Given the description of an element on the screen output the (x, y) to click on. 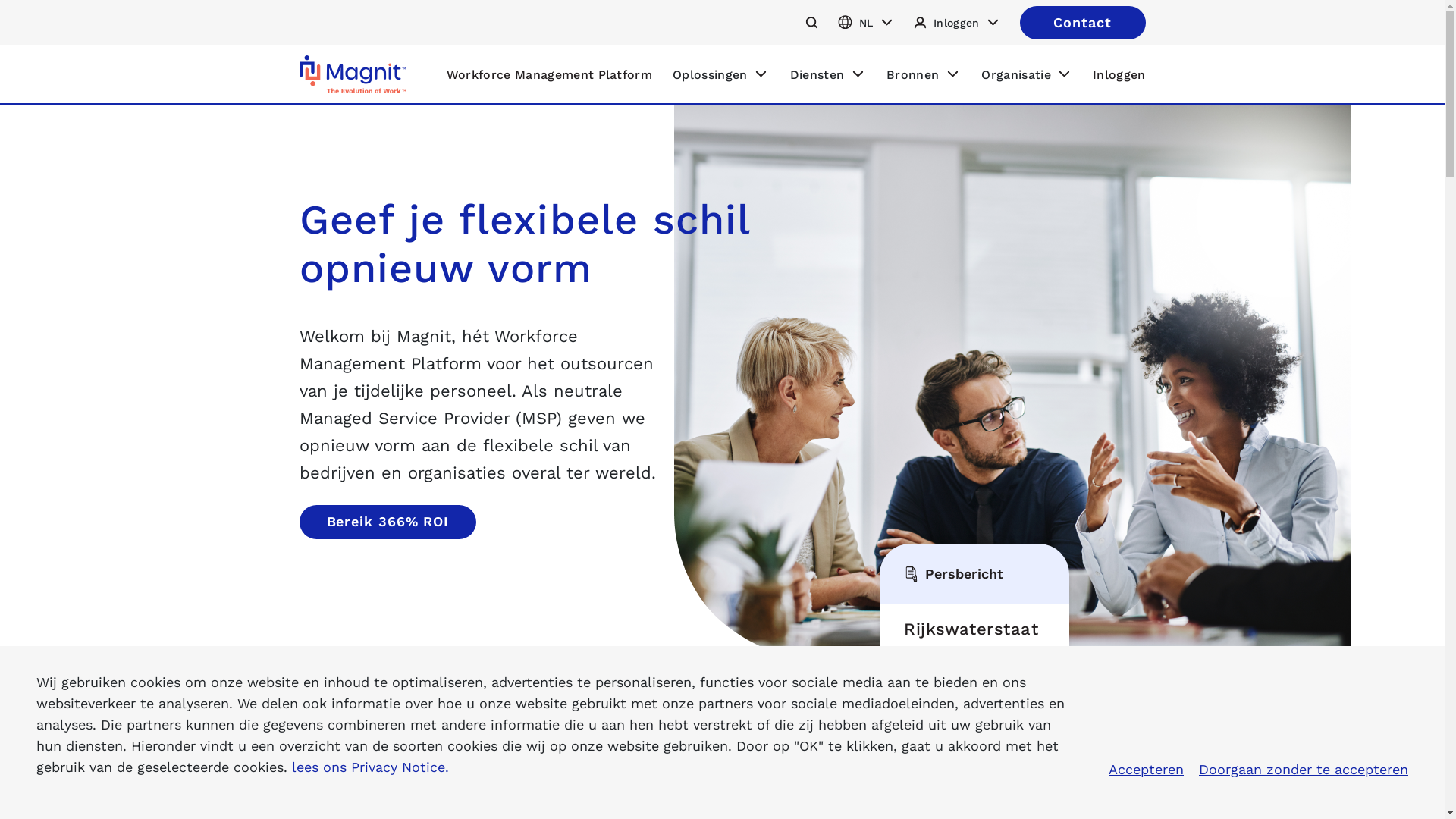
Workforce Management Platform Element type: text (549, 74)
Accepteren Element type: text (1145, 769)
Diensten Element type: text (827, 73)
Meer informatie Element type: text (963, 775)
Inloggen Element type: text (956, 22)
Contact Element type: text (1082, 22)
Bereik 366% ROI Element type: text (387, 522)
NL Element type: text (865, 22)
Doorgaan zonder te accepteren Element type: text (1303, 769)
lees ons Privacy Notice. Element type: text (369, 767)
Inloggen Element type: text (1118, 74)
Organisatie Element type: text (1026, 73)
Oplossingen Element type: text (720, 73)
Bronnen Element type: text (922, 73)
